Given the description of an element on the screen output the (x, y) to click on. 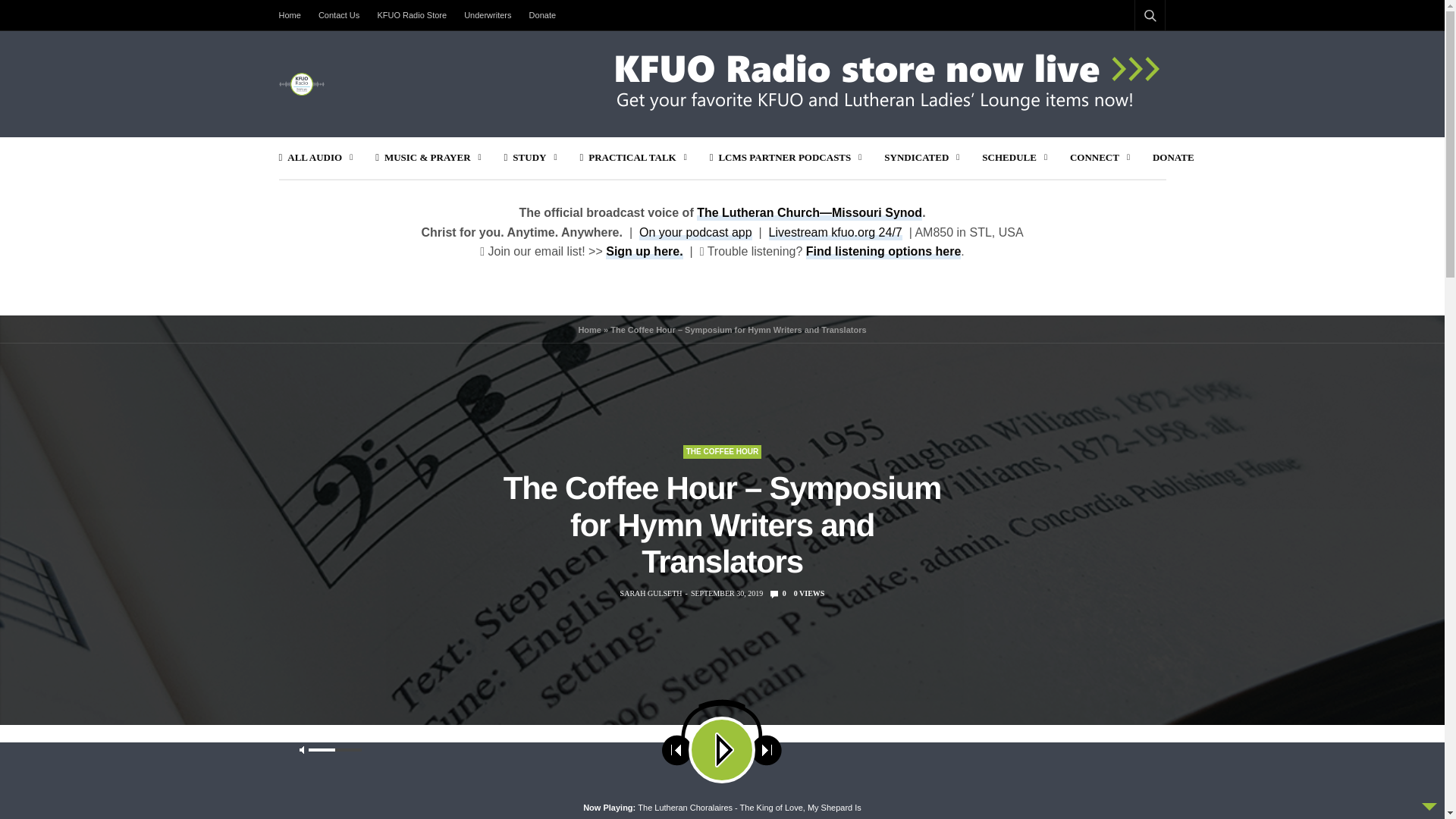
KFUO Radio Store (411, 15)
Home (293, 15)
ALL AUDIO (316, 157)
Underwriters (487, 15)
Contact Us (338, 15)
Mute (800, 762)
Search (1129, 51)
Search (1125, 784)
Posts by Sarah Gulseth (651, 593)
Play (372, 762)
The Coffee Hour (721, 451)
Donate (542, 15)
